Given the description of an element on the screen output the (x, y) to click on. 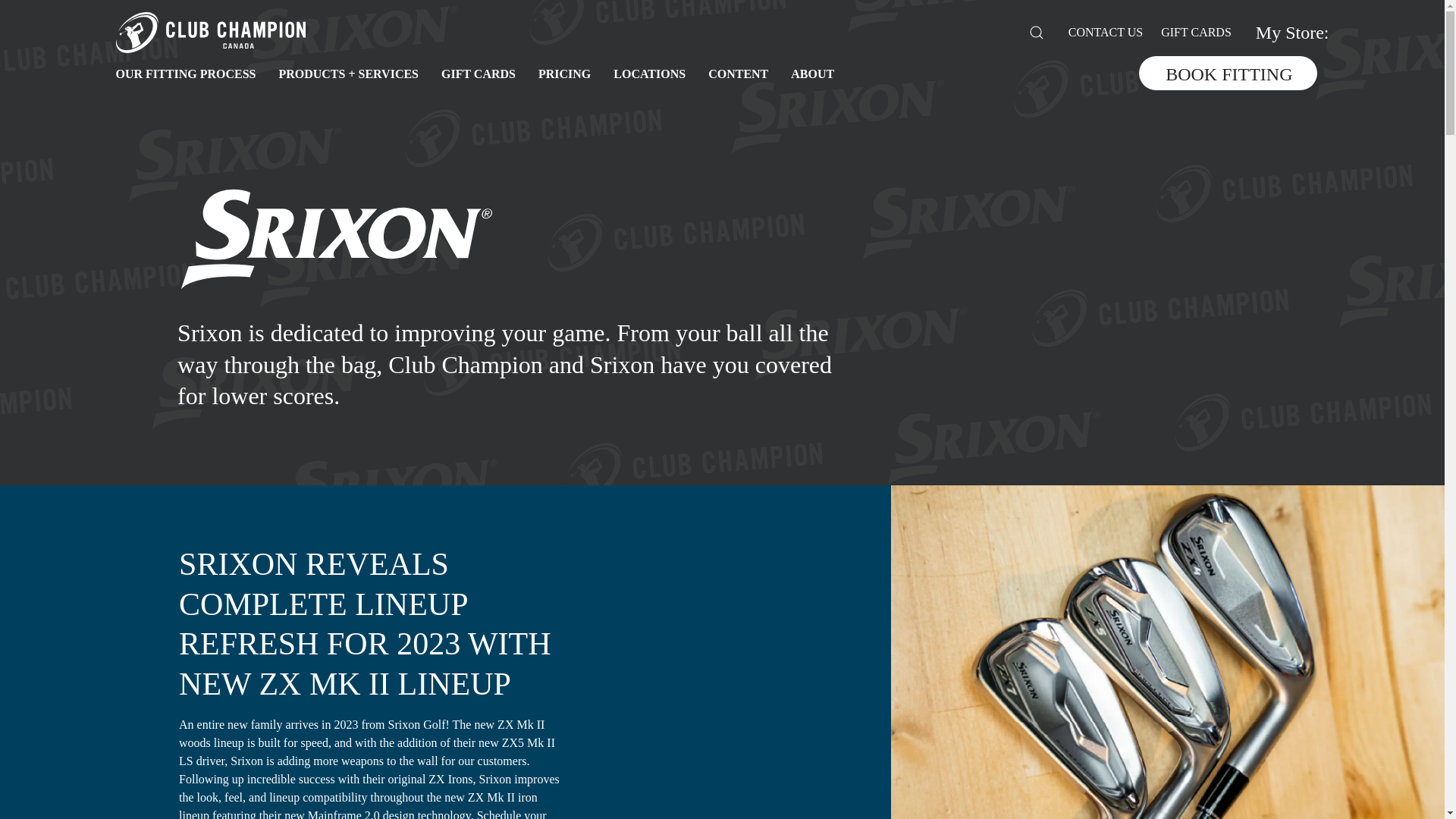
GIFT CARDS (1195, 32)
OUR FITTING PROCESS (185, 74)
CONTACT US (1105, 32)
